Given the description of an element on the screen output the (x, y) to click on. 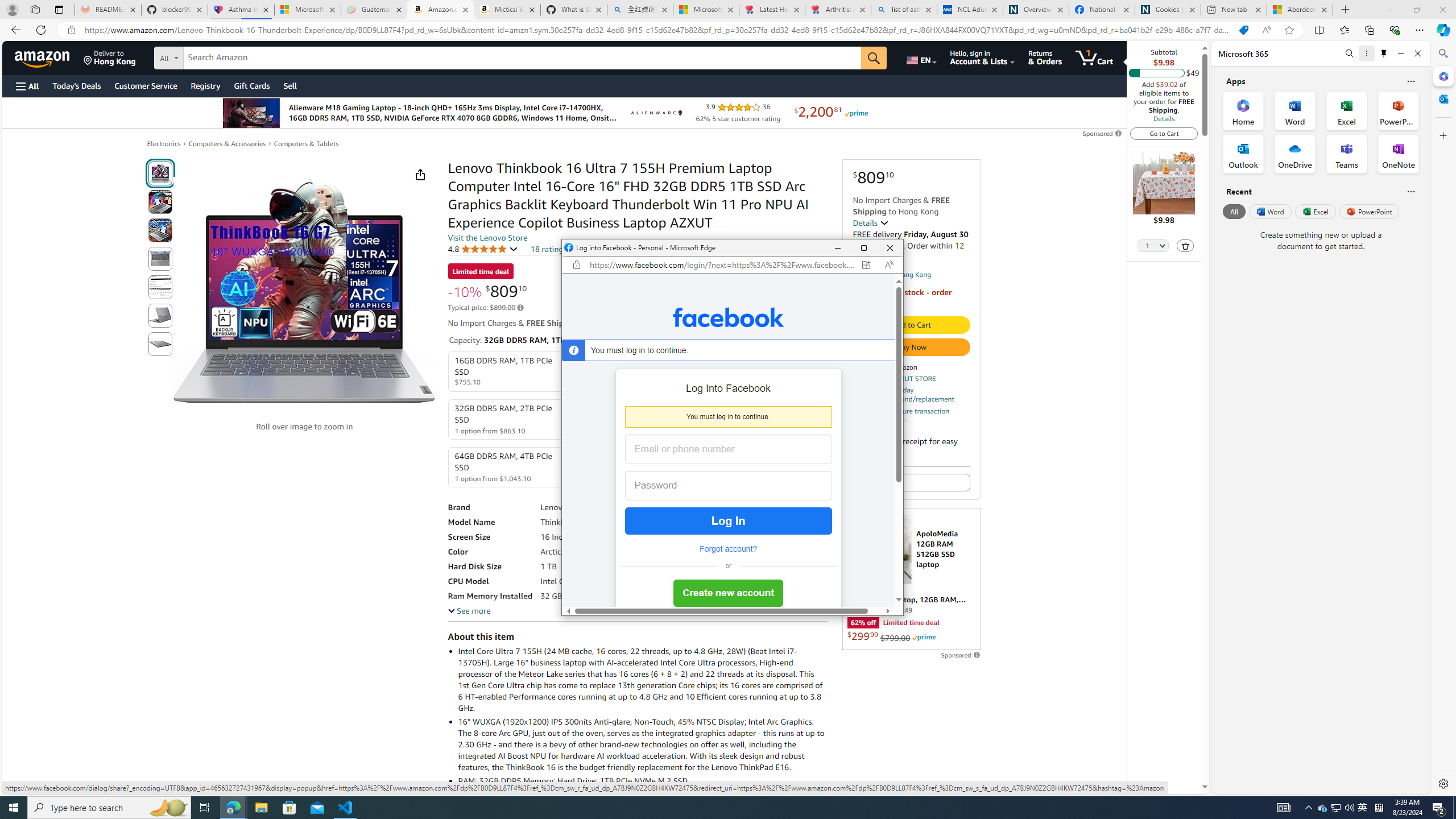
Share (419, 174)
Tray Input Indicator - Chinese (Simplified, China) (1378, 807)
Visual Studio Code - 1 running window (345, 807)
Home Office App (1243, 110)
Running applications (700, 807)
Close Customize pane (1442, 135)
Search in (210, 56)
Microsoft Edge - 2 running windows (233, 807)
list of asthma inhalers uk - Search (904, 9)
1 item in cart (1094, 57)
Amazon (43, 57)
